Given the description of an element on the screen output the (x, y) to click on. 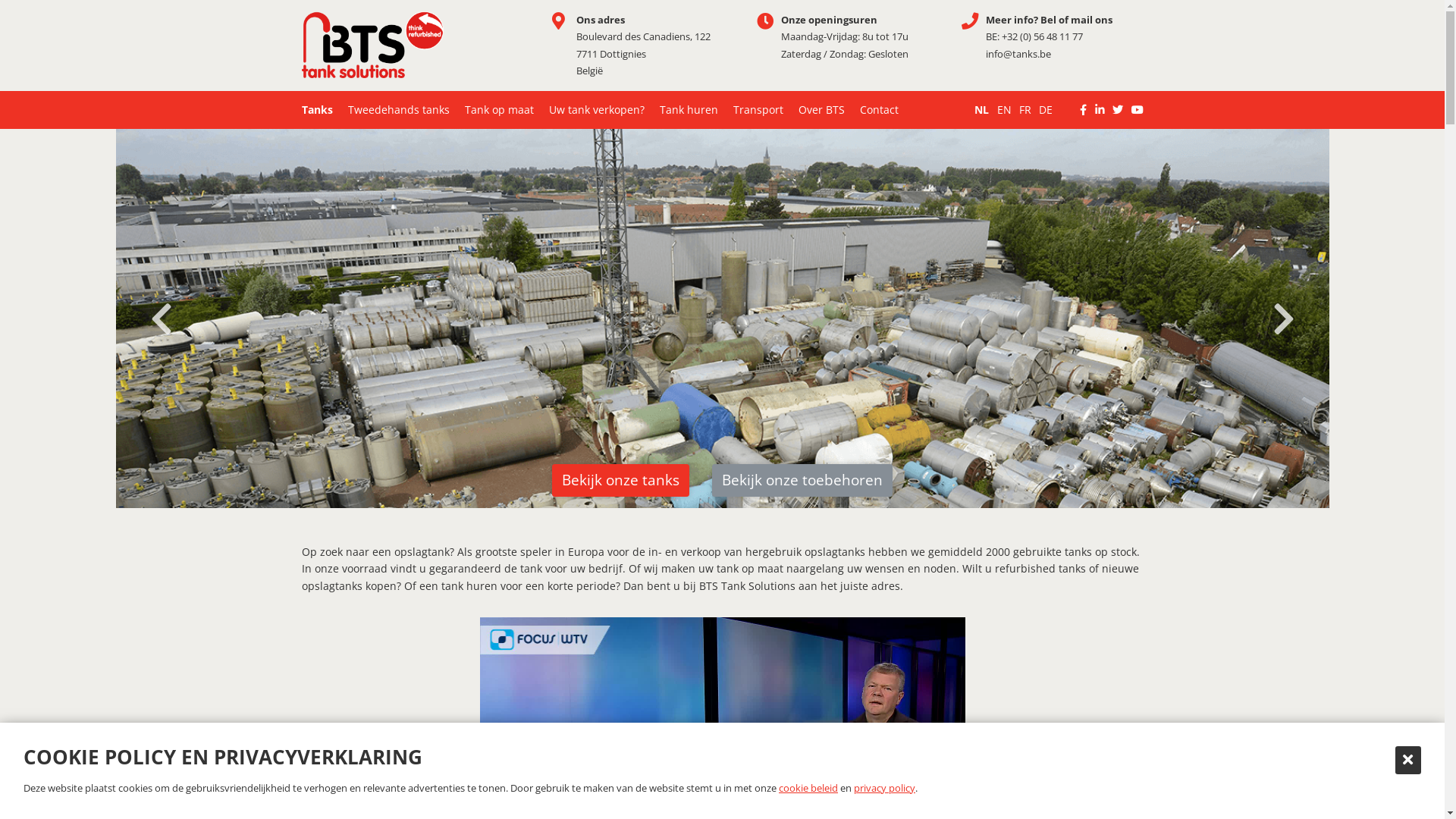
Bekijk onze toebehoren Element type: text (802, 480)
+32 (0) 56 48 11 77 Element type: text (1041, 36)
DE Element type: text (1045, 109)
Tweedehands tanks Element type: text (397, 109)
Tank huren Element type: text (688, 109)
Over BTS Element type: text (820, 109)
Uw tank verkopen? Element type: text (596, 109)
cookie beleid Element type: text (807, 787)
privacy policy Element type: text (884, 787)
Previous Element type: text (160, 319)
Tank op maat Element type: text (498, 109)
FR Element type: text (1025, 109)
Tanks Element type: text (316, 109)
Bekijk onze tanks Element type: text (620, 480)
NL Element type: text (981, 109)
Next Element type: text (1282, 319)
EN Element type: text (1004, 109)
Contact Element type: text (878, 109)
Transport Element type: text (757, 109)
info@tanks.be Element type: text (1018, 53)
